Given the description of an element on the screen output the (x, y) to click on. 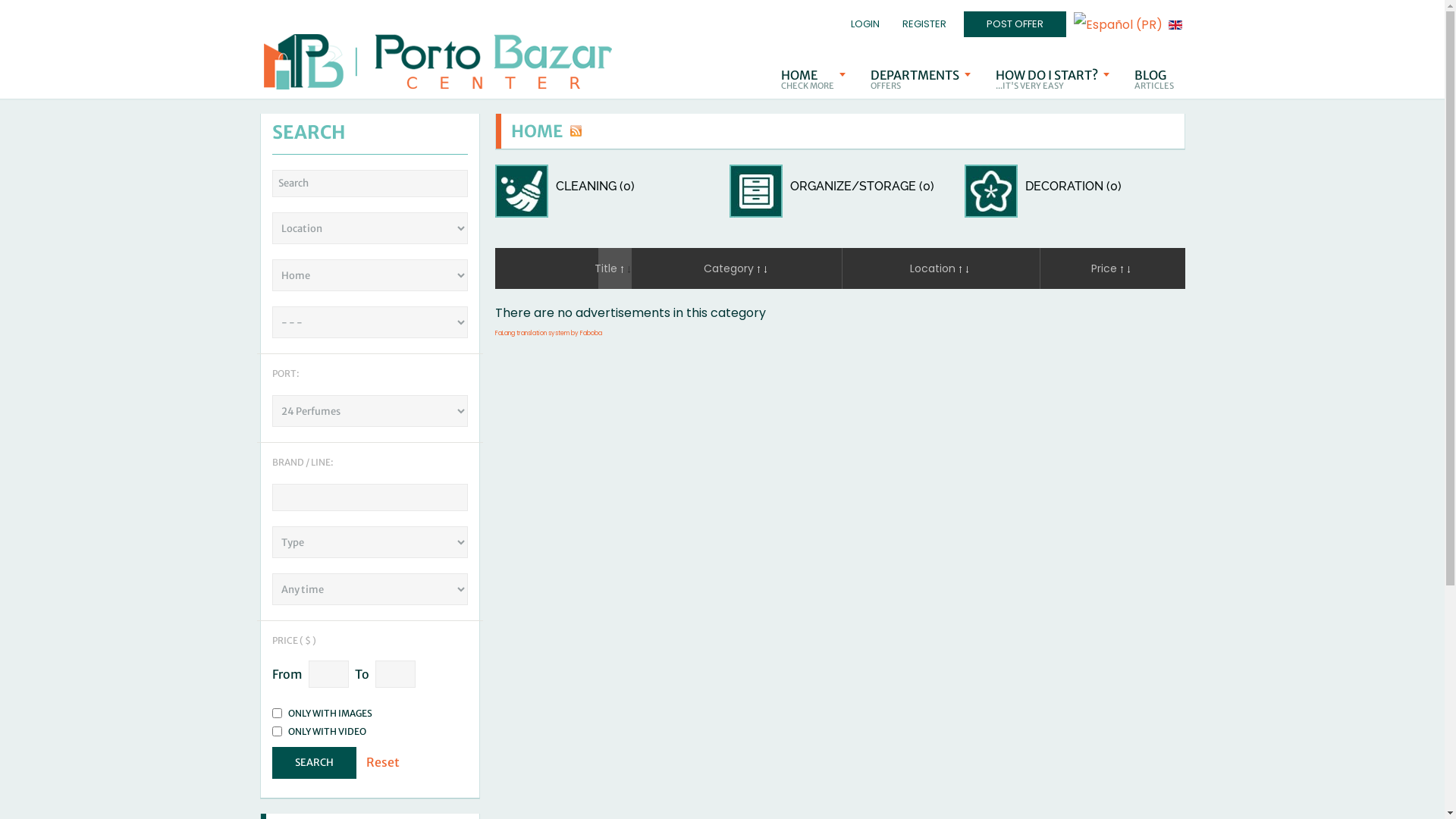
DEPARTMENTS
OFFERS Element type: text (919, 79)
CLEANING (0) Element type: text (594, 185)
HOME
CHECK MORE Element type: text (812, 79)
REGISTER Element type: text (920, 24)
BLOG
ARTICLES Element type: text (1153, 79)
HOW DO I START?
...IT'S VERY EASY Element type: text (1052, 79)
ORGANIZE/STORAGE (0) Element type: text (862, 185)
DECORATION (0) Element type: text (1073, 185)
English (US) Element type: hover (1174, 24)
Category Element type: text (736, 268)
FaLang translation system by Faboba Element type: text (547, 333)
Title Element type: text (613, 268)
Location Element type: text (941, 268)
Reset Element type: text (381, 761)
LOGIN Element type: text (861, 24)
SEARCH Element type: text (313, 762)
Price Element type: text (1112, 268)
POST OFFER Element type: text (1014, 24)
